Given the description of an element on the screen output the (x, y) to click on. 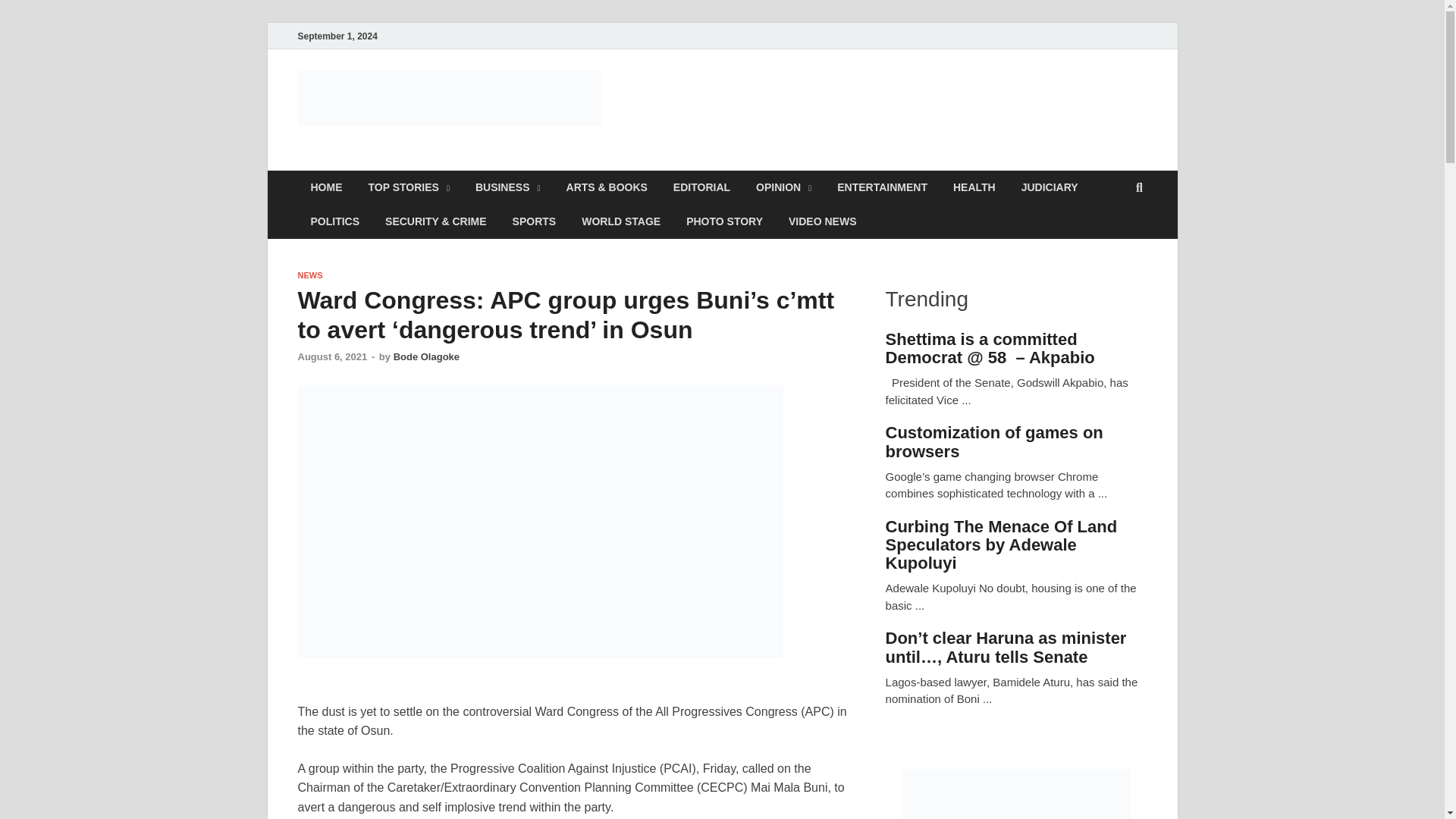
HOME (326, 187)
OPINION (783, 187)
Blueprint Newspapers Limited (504, 161)
EDITORIAL (701, 187)
TOP STORIES (408, 187)
ENTERTAINMENT (882, 187)
BUSINESS (508, 187)
